Given the description of an element on the screen output the (x, y) to click on. 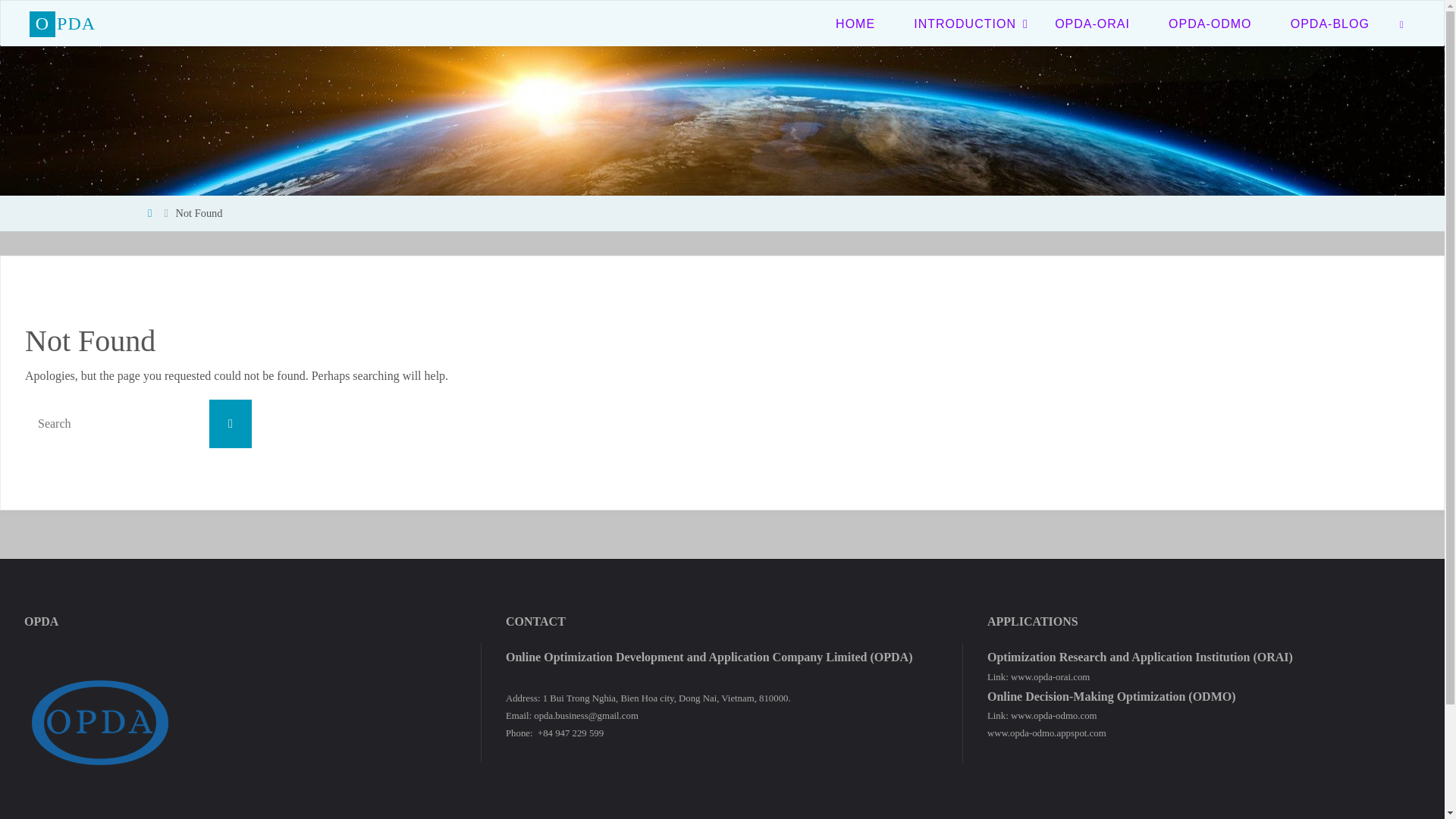
Making great decisions by optimization solutions (62, 22)
OPDA-BLOG (1330, 22)
OPDA (62, 22)
INTRODUCTION (965, 22)
HOME (854, 22)
OPDA-ODMO (1210, 22)
OPDA-ORAI (1092, 22)
